Given the description of an element on the screen output the (x, y) to click on. 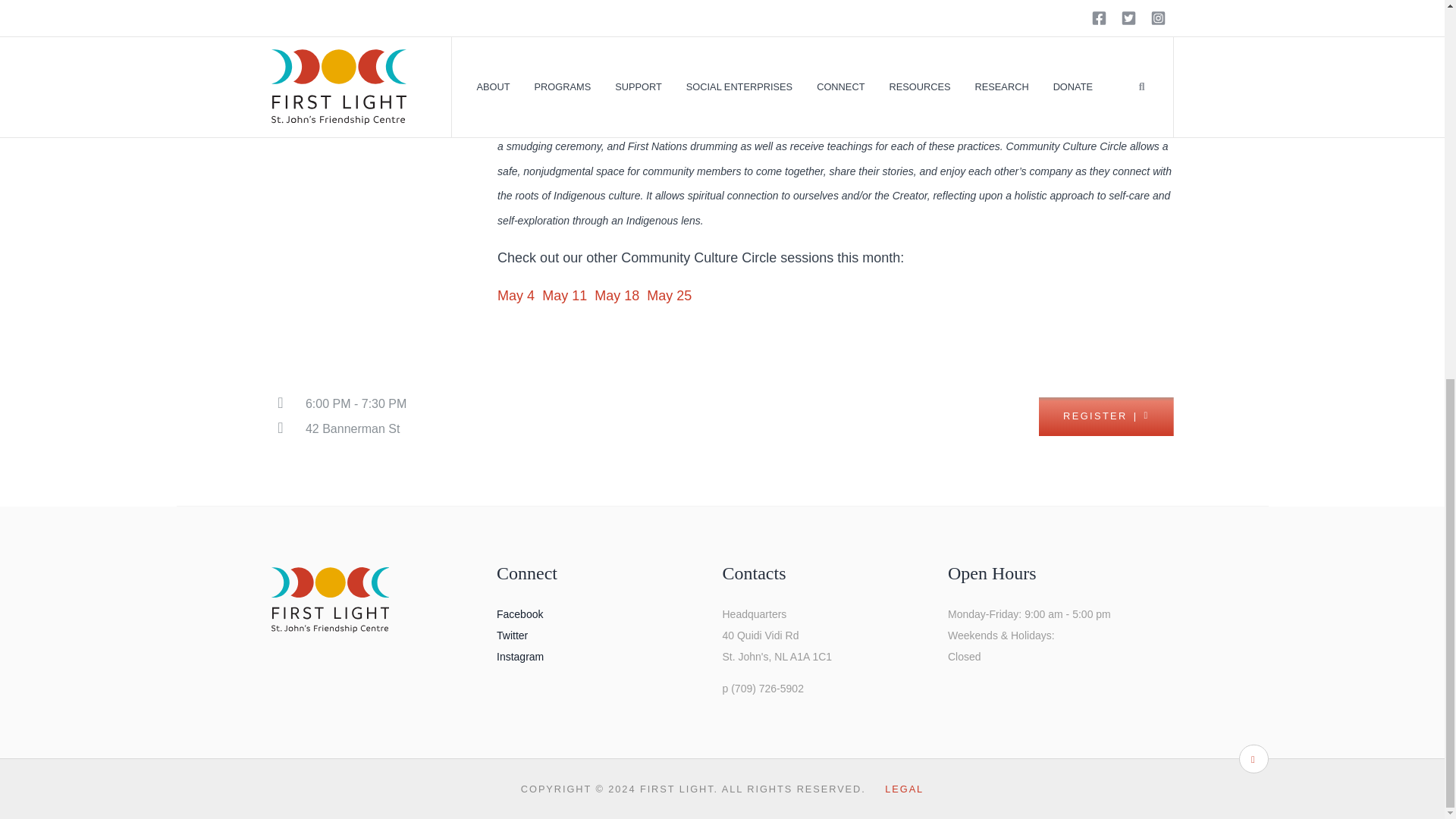
May 25 (668, 295)
Twitter (511, 635)
REGISTER (1106, 416)
Facebook (519, 613)
WaterWerks Agency (727, 95)
LEGAL (904, 788)
May 18  (618, 295)
May 4  (517, 295)
May 11 (563, 295)
Instagram (519, 656)
